Given the description of an element on the screen output the (x, y) to click on. 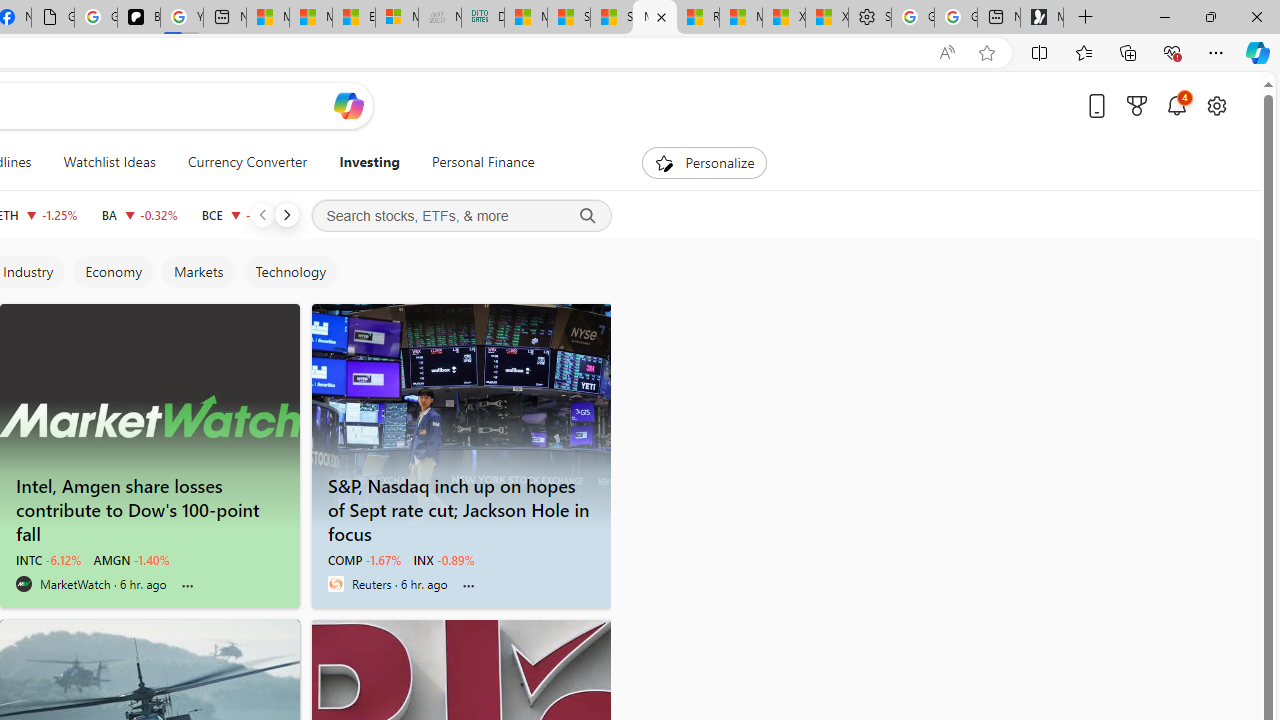
Google Analytics Opt-out Browser Add-on Download Page (53, 17)
Currency Converter (247, 162)
Watchlist Ideas (109, 162)
BCE BCE Inc decrease 34.55 -0.07 -0.20% (242, 214)
